Given the description of an element on the screen output the (x, y) to click on. 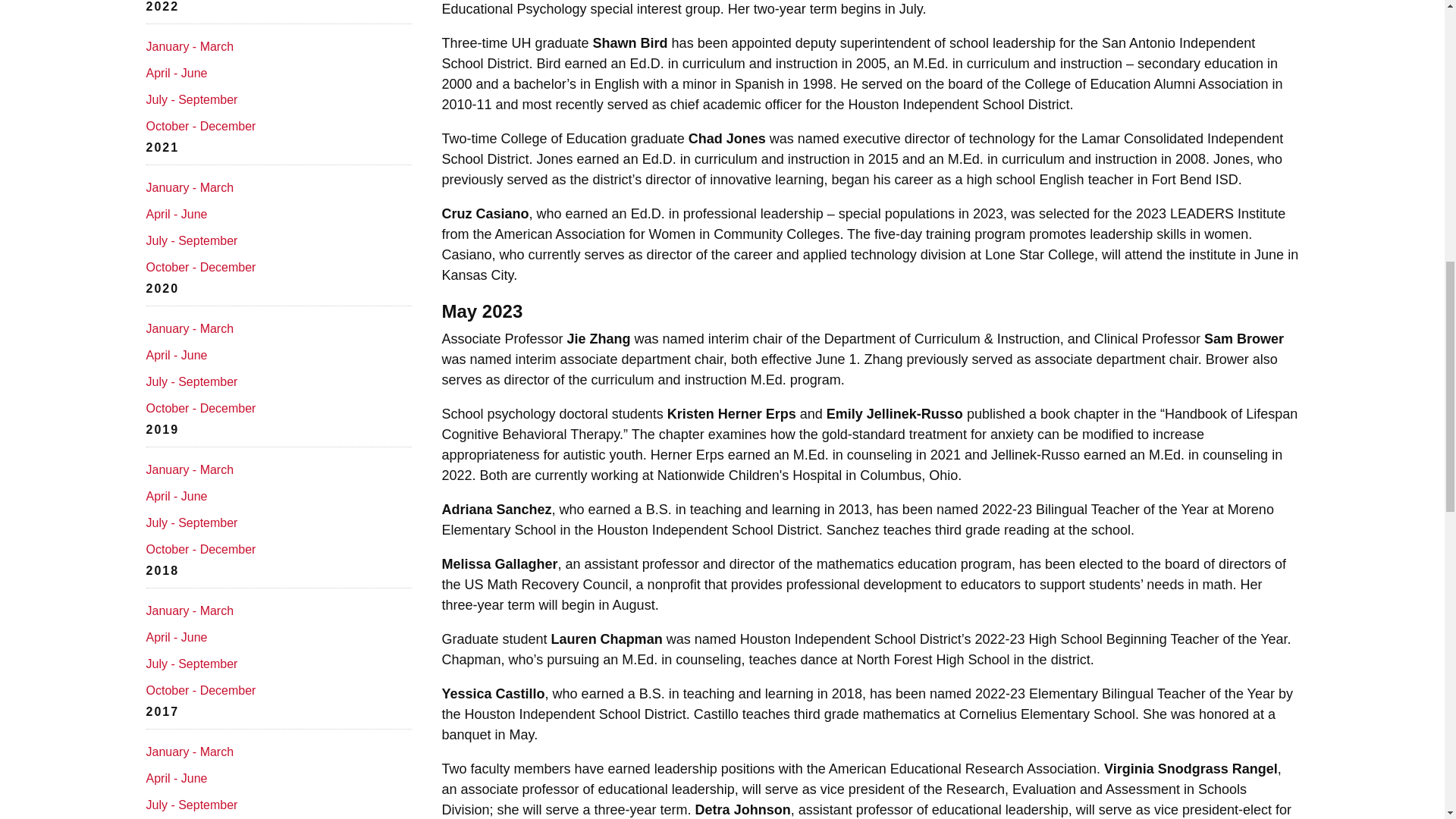
University of Houston (521, 43)
